Given the description of an element on the screen output the (x, y) to click on. 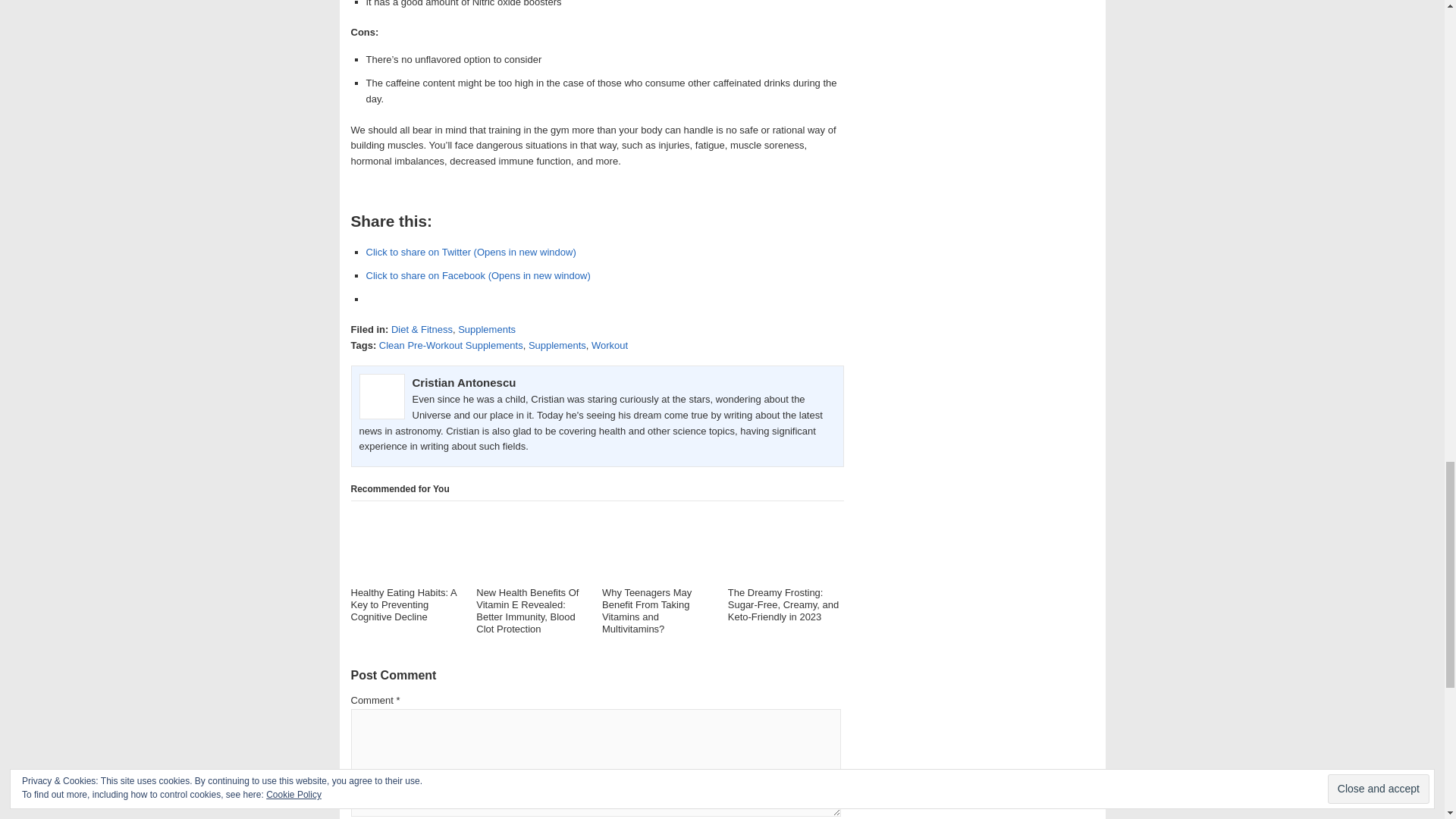
Click to share on Twitter (470, 251)
Click to share on Facebook (477, 275)
